Given the description of an element on the screen output the (x, y) to click on. 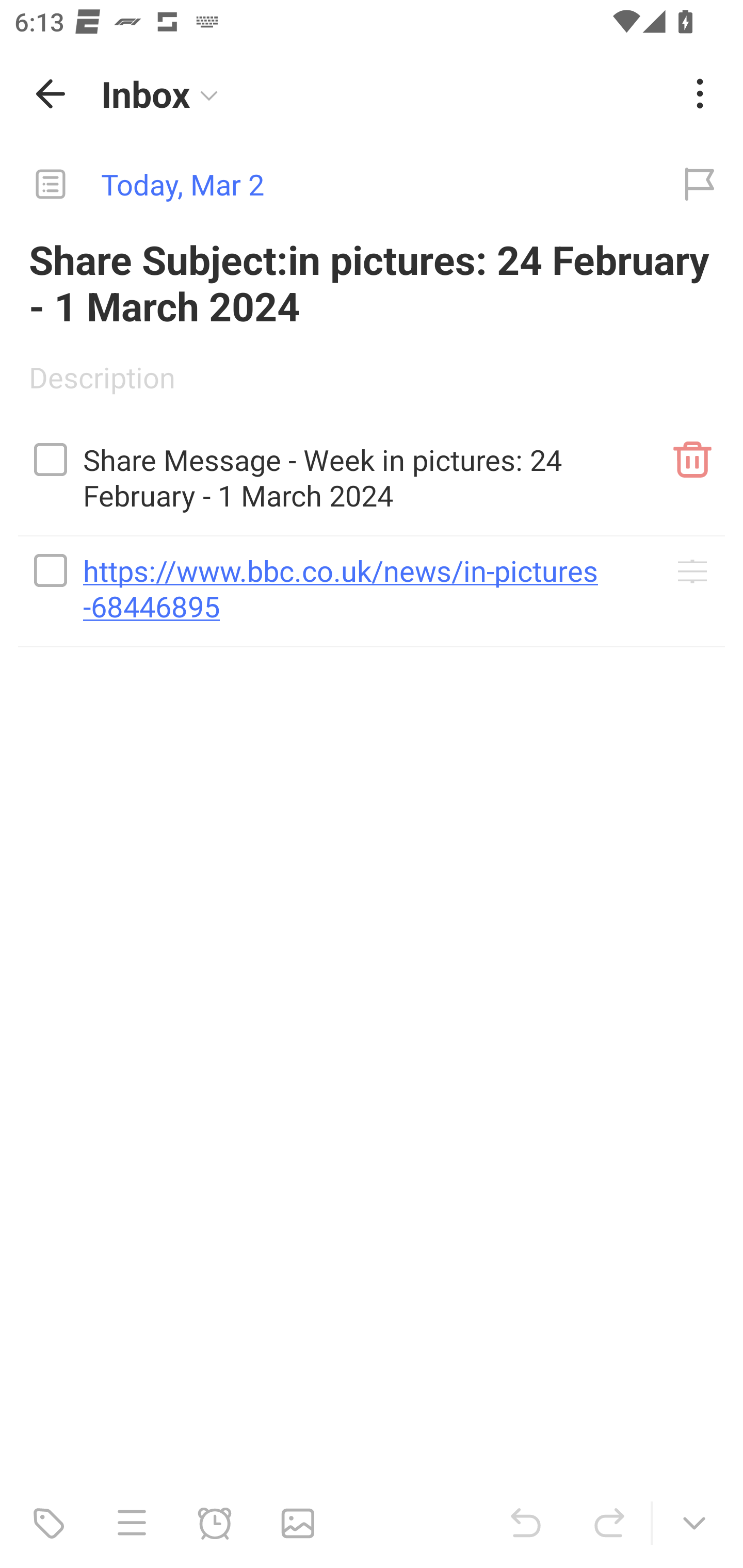
Inbox (384, 93)
Today, Mar 2  (328, 184)
Description (371, 383)
  (50, 458)
  (50, 570)
https://www.bbc.co.uk/news/in-pictures-68446895 (371, 580)
